Given the description of an element on the screen output the (x, y) to click on. 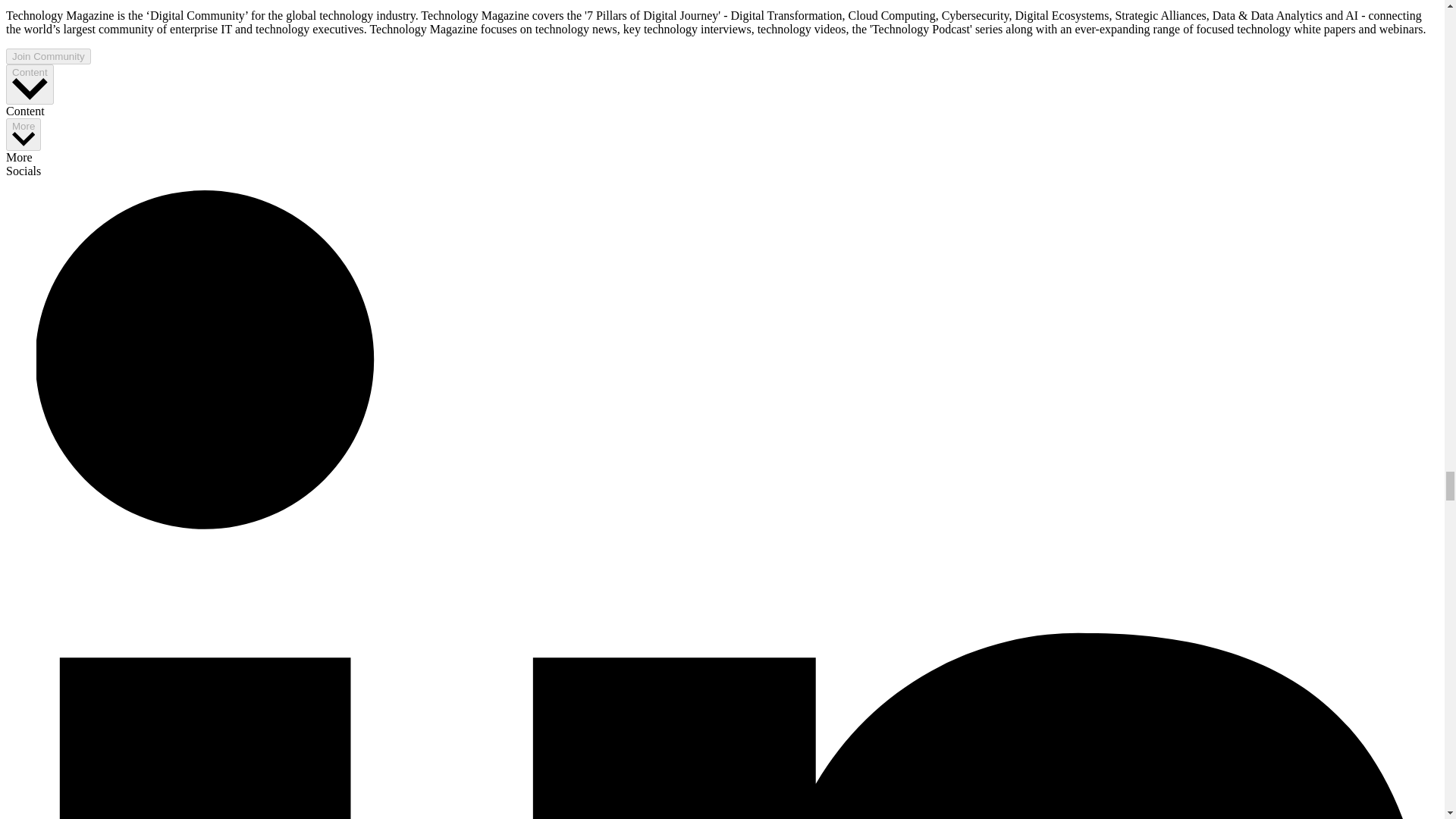
Join Community (47, 56)
Content (29, 84)
More (22, 133)
